Given the description of an element on the screen output the (x, y) to click on. 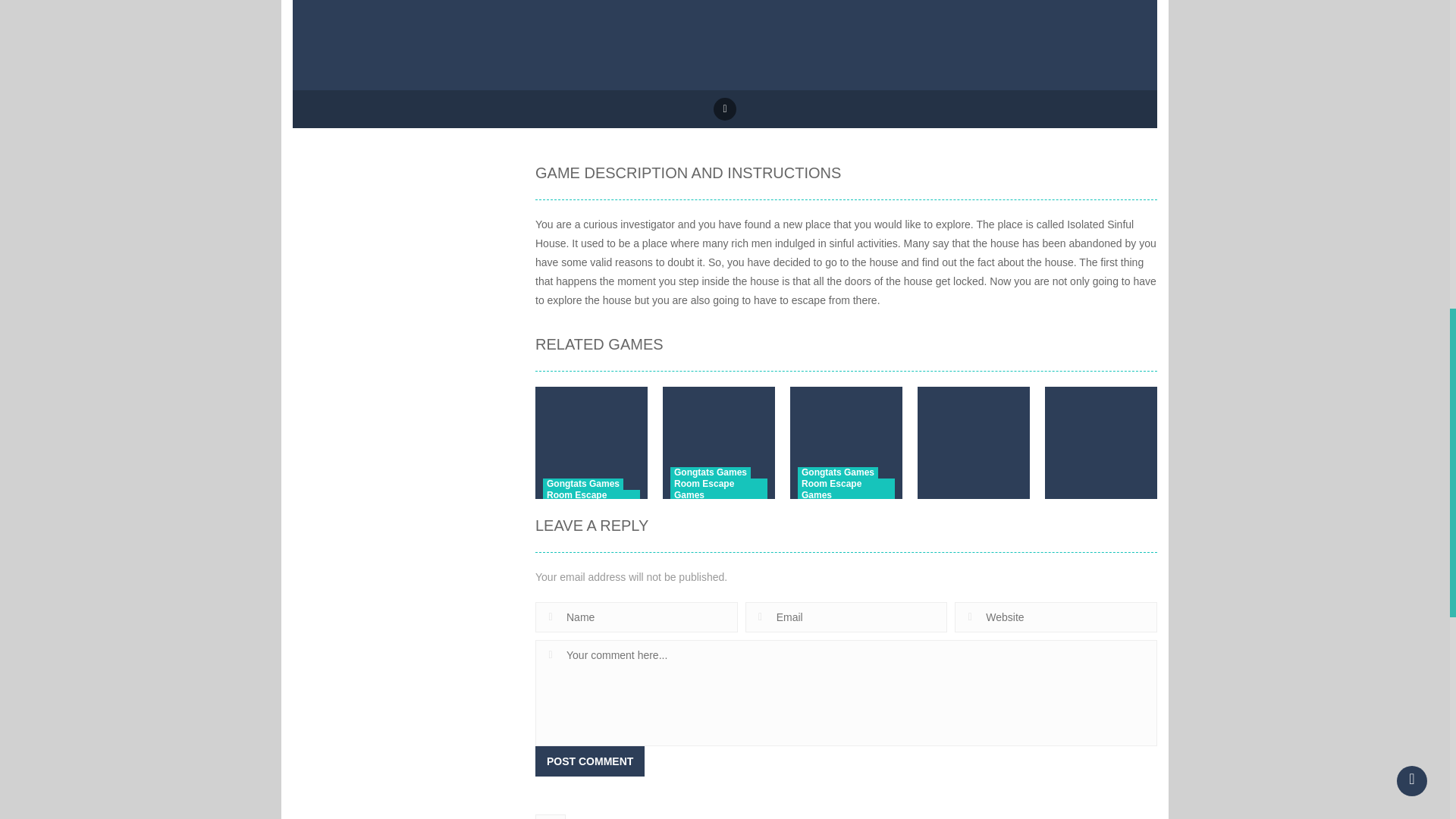
Post Comment (590, 761)
Room Escape Games (718, 489)
Gongtats Games (583, 483)
Room Escape Games (591, 500)
Gongtats Games (710, 472)
